Given the description of an element on the screen output the (x, y) to click on. 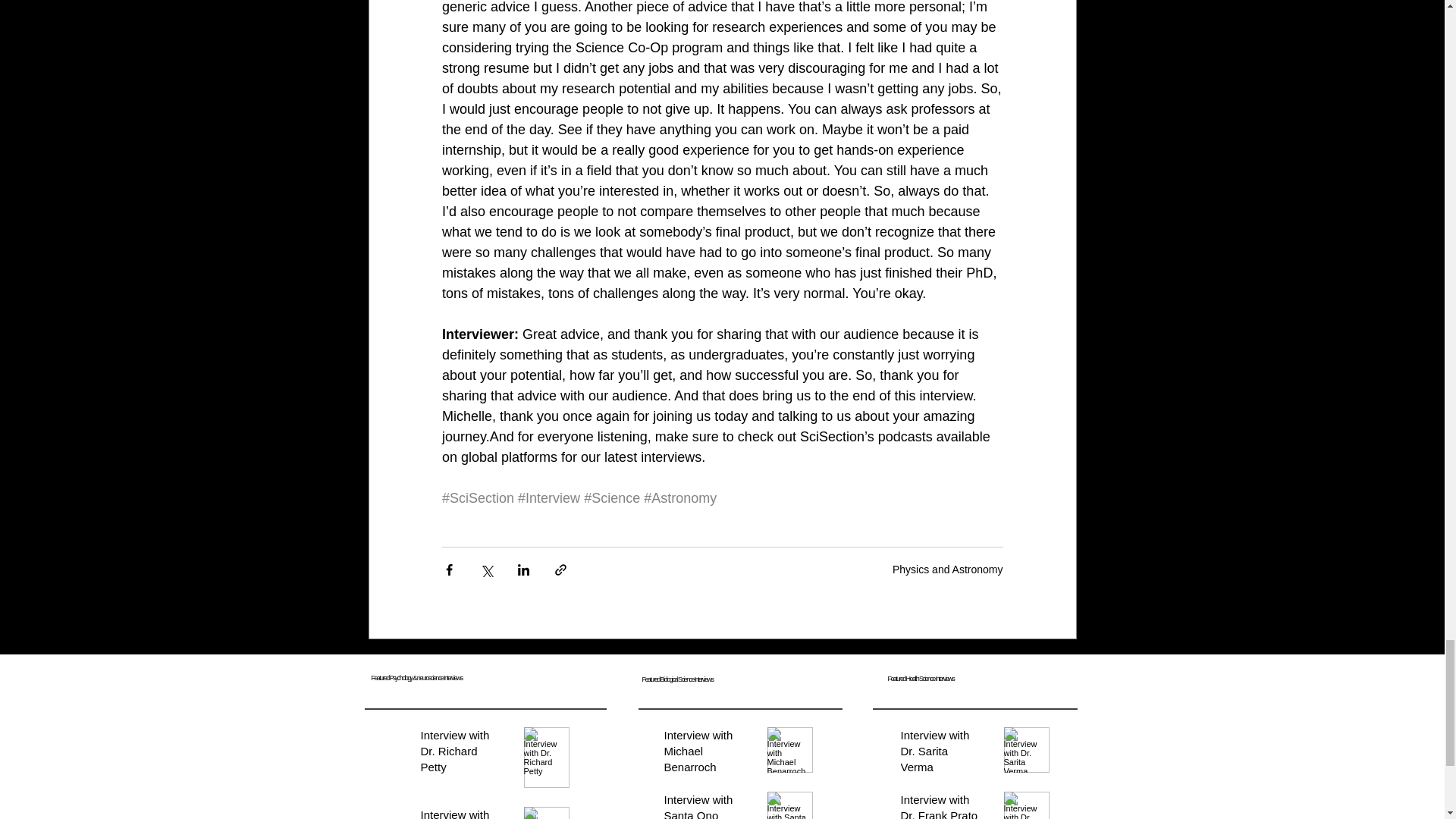
Interview with Dr. Jessica Maxwell (461, 812)
Interview with Santa Ono (704, 805)
Interview with Dr. Richard Petty (461, 754)
Physics and Astronomy (947, 569)
Interview with Dr. Frank Prato (941, 805)
Interview with Dr. Sarita Verma (941, 754)
Interview with Michael Benarroch (704, 754)
